Given the description of an element on the screen output the (x, y) to click on. 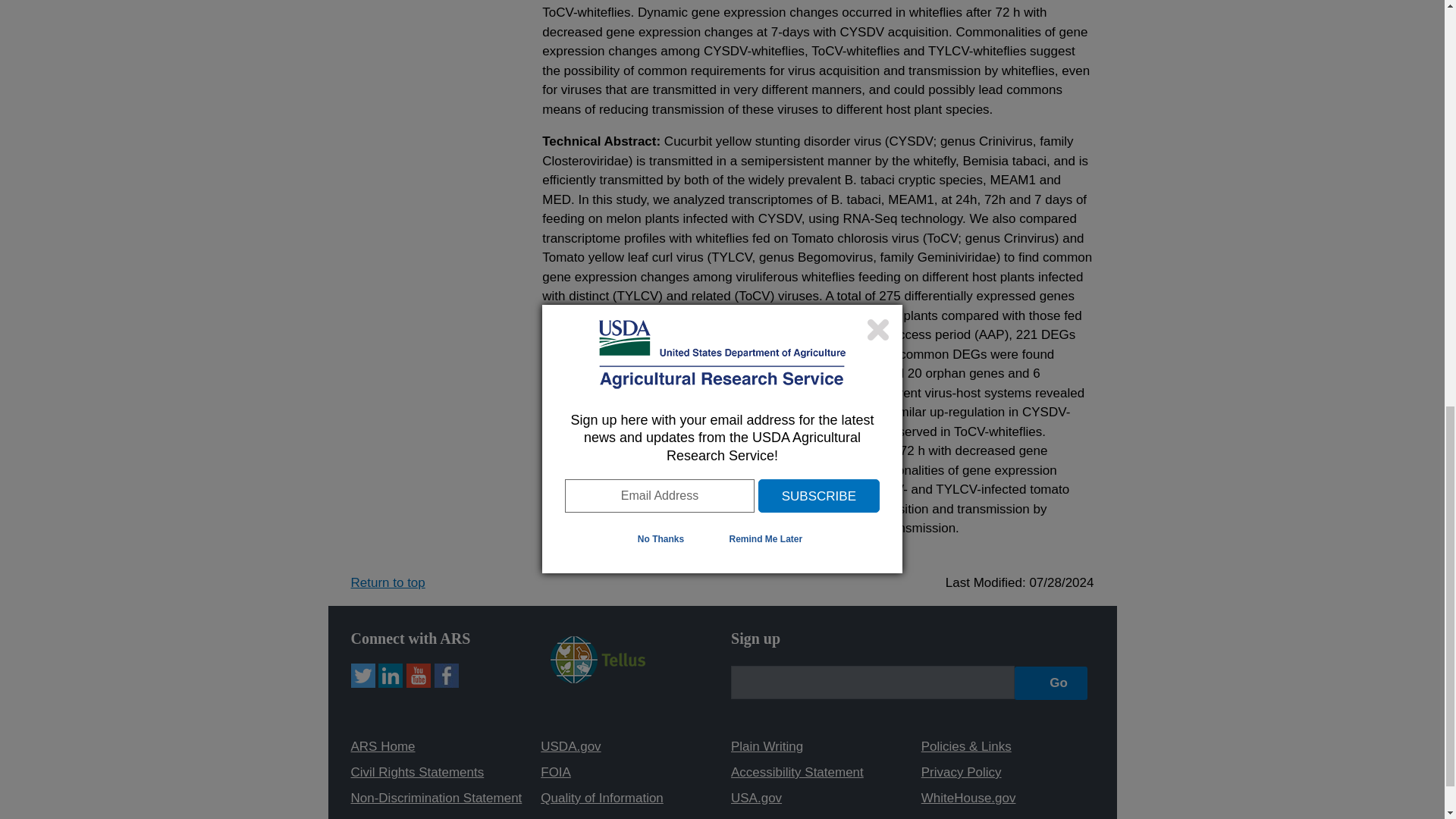
email (872, 682)
Go (1050, 683)
Twitter (362, 675)
LinkedIn (390, 675)
Tellus (597, 659)
Facebook Icon (445, 675)
Youtube (418, 675)
Tellus (597, 677)
